Given the description of an element on the screen output the (x, y) to click on. 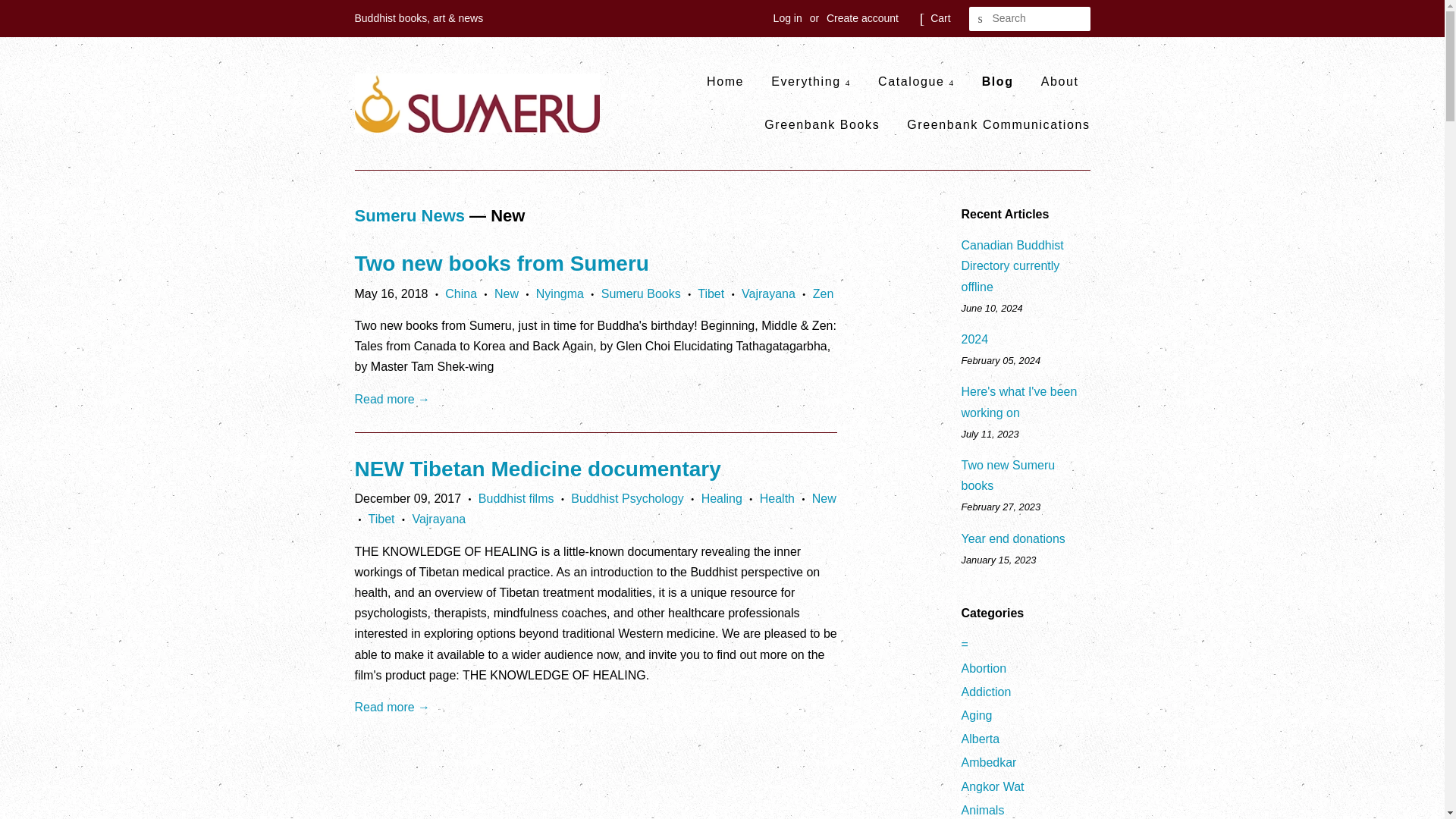
Show articles tagged Abortion (983, 667)
Show articles tagged Angkor Wat (992, 786)
Show articles tagged Ambedkar (988, 762)
Home (730, 81)
Show articles tagged Addiction (985, 691)
Show articles tagged Alberta (980, 738)
Search (980, 18)
Create account (862, 18)
Show articles tagged Animals (982, 809)
Show articles tagged Aging (976, 715)
